Given the description of an element on the screen output the (x, y) to click on. 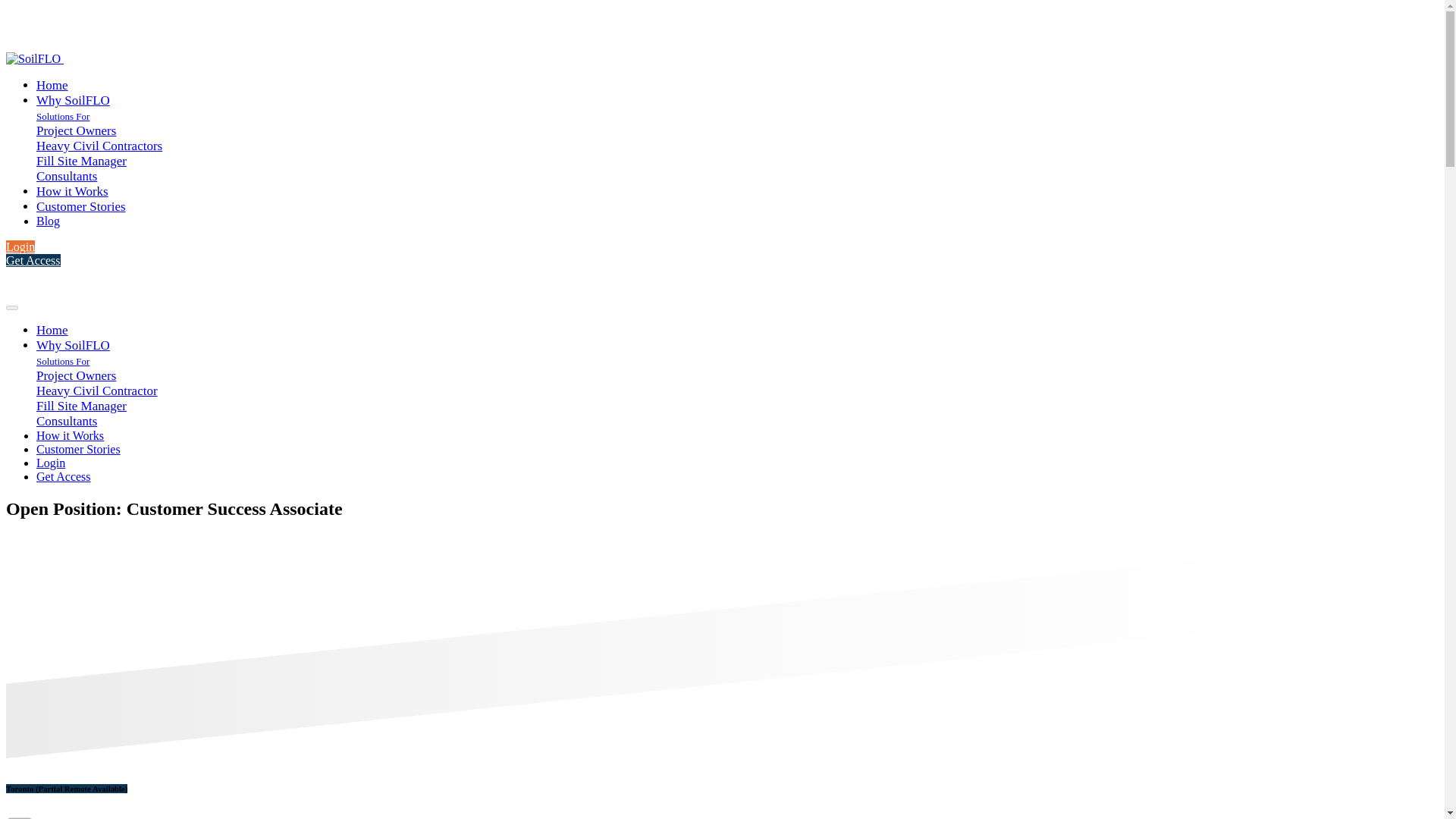
Project Owners (76, 375)
Consultants (66, 175)
How it Works (71, 191)
Why SoilFLO (73, 100)
Customer Stories (80, 206)
How it Works (69, 435)
Home (52, 329)
Heavy Civil Contractors (98, 145)
Home (52, 84)
Project Owners (76, 130)
Solutions For (62, 115)
Why SoilFLO (73, 345)
How it Works (71, 191)
Login (50, 462)
Fill Site Manager (81, 160)
